Given the description of an element on the screen output the (x, y) to click on. 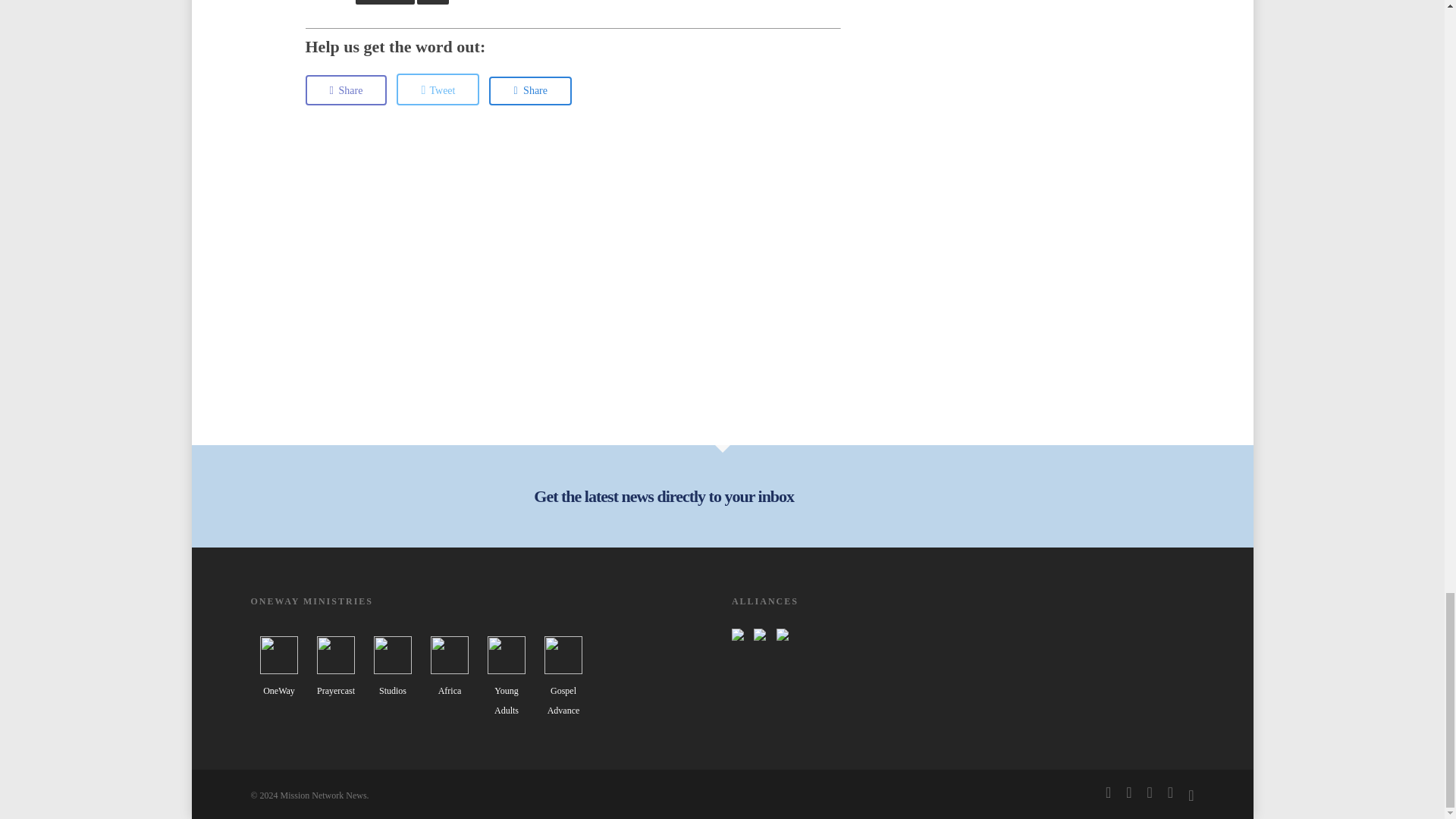
Share this (345, 90)
Tweet this (437, 89)
Share this (530, 90)
